Given the description of an element on the screen output the (x, y) to click on. 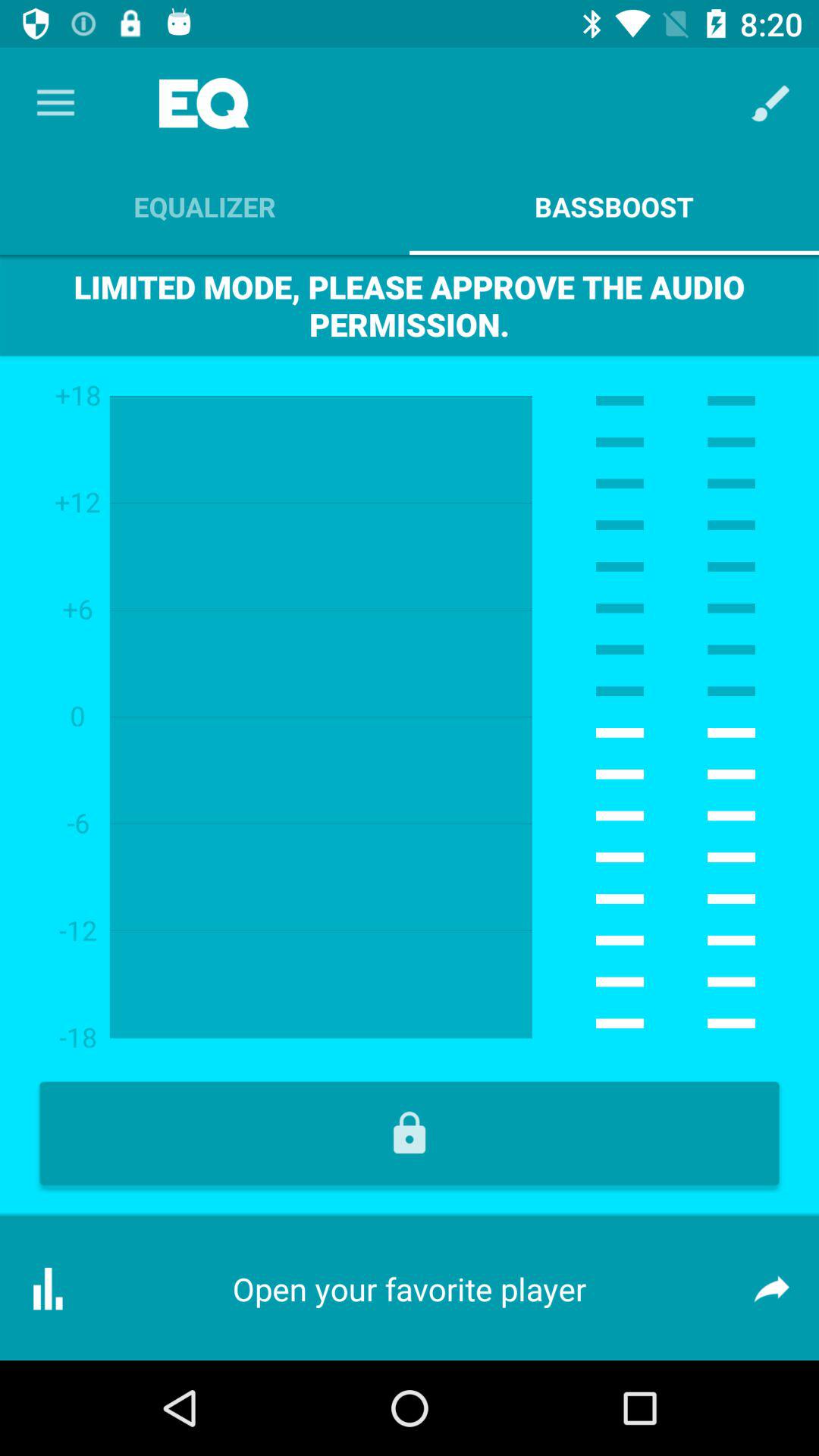
click on paint icon at the top (771, 103)
select the lock icon which is in the bottom (409, 1133)
click on forward icon at the bottom (771, 1288)
